Given the description of an element on the screen output the (x, y) to click on. 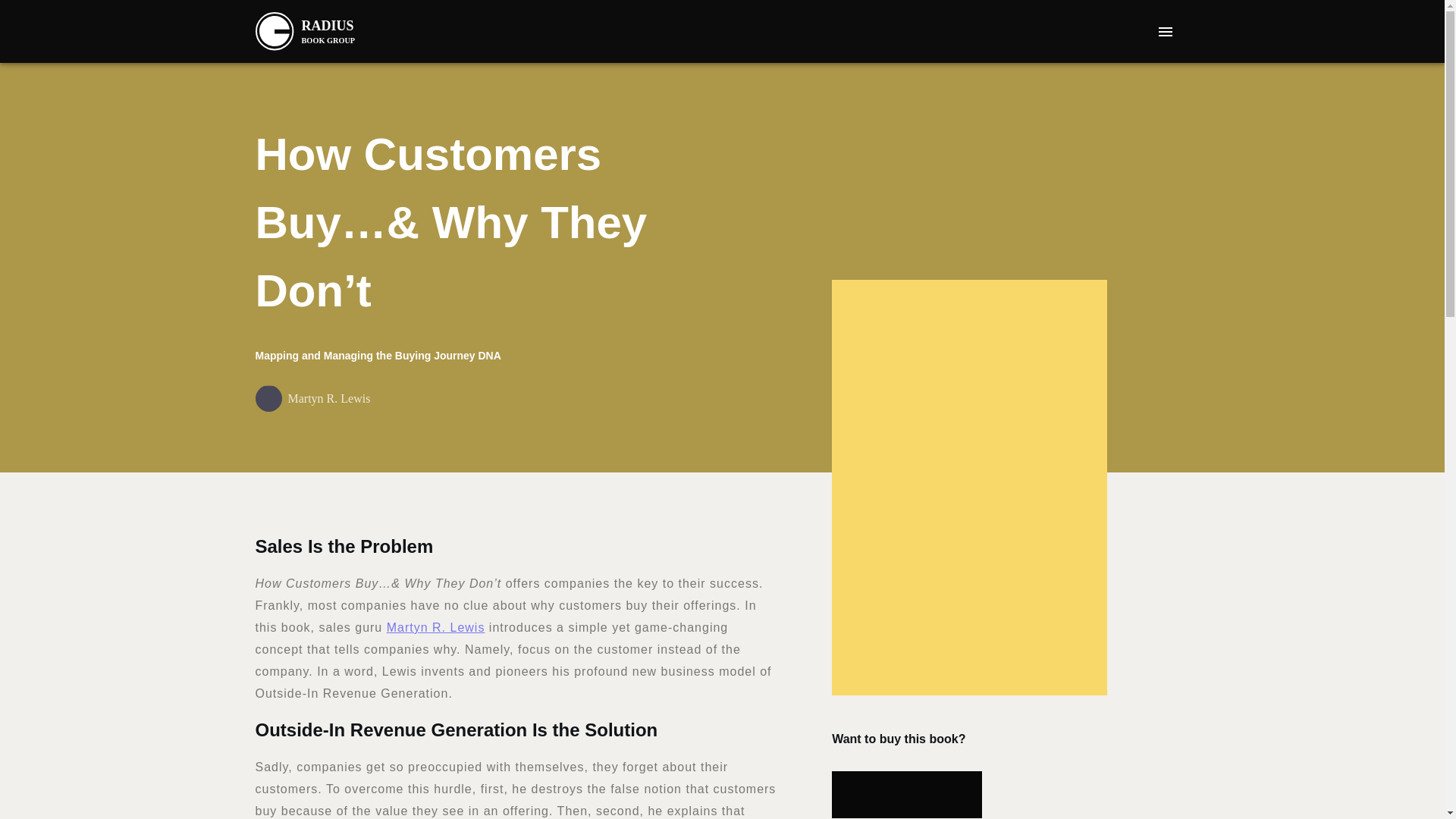
Martyn R. Lewis (435, 626)
